Given the description of an element on the screen output the (x, y) to click on. 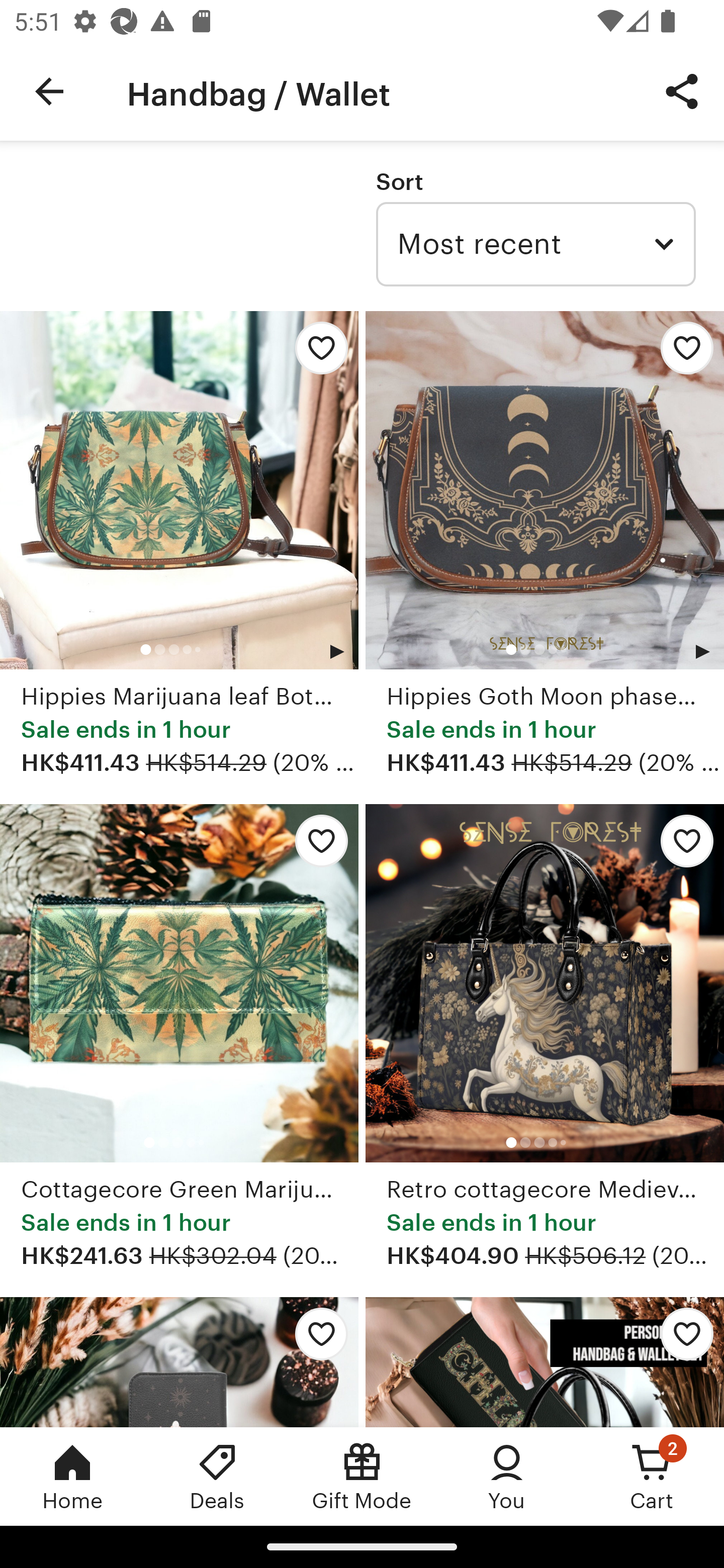
Navigate up (49, 91)
Share Button (681, 90)
Sort (399, 181)
Most recent (535, 244)
Deals (216, 1475)
Gift Mode (361, 1475)
You (506, 1475)
Cart, 2 new notifications Cart (651, 1475)
